Given the description of an element on the screen output the (x, y) to click on. 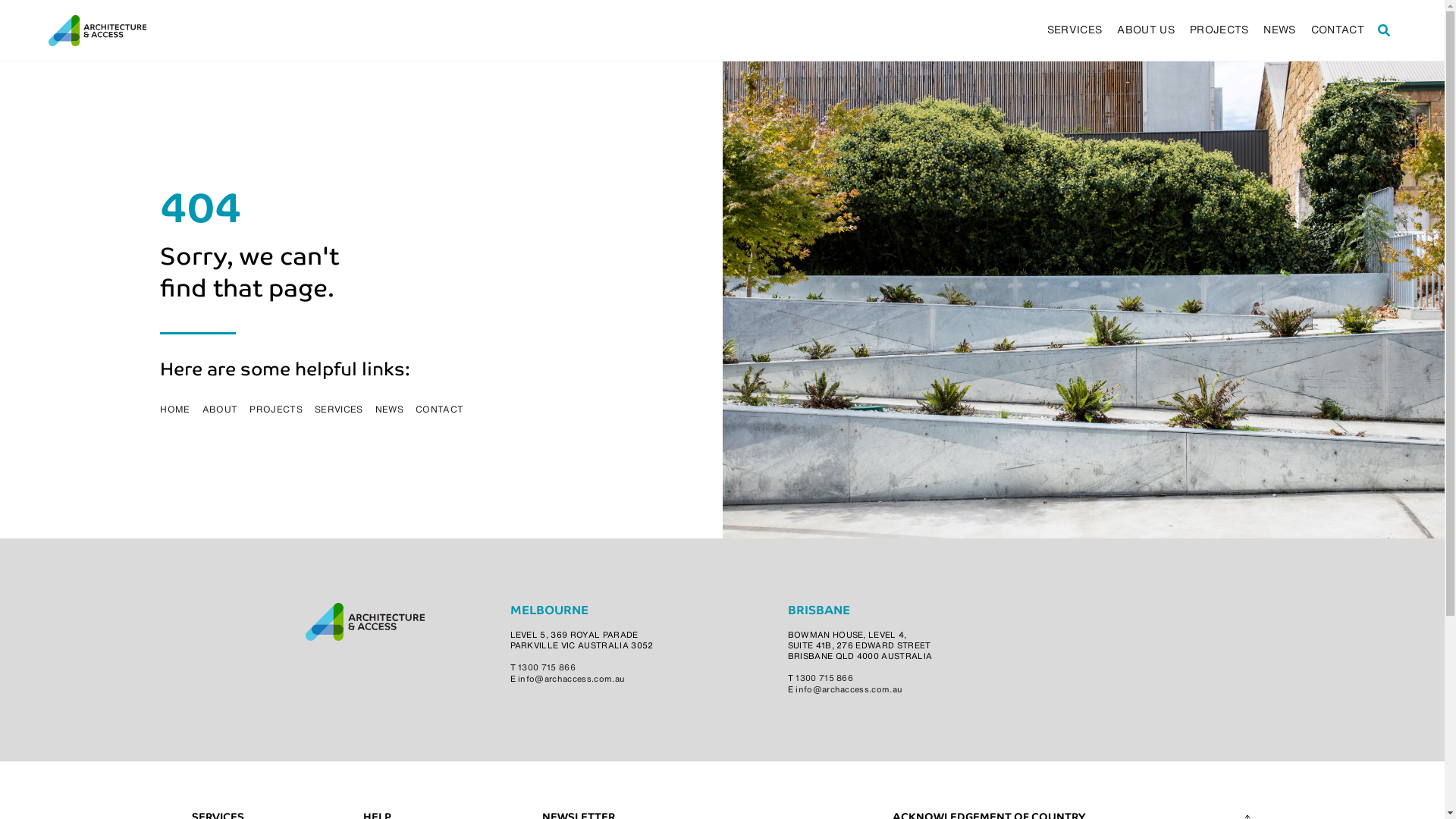
info@archaccess.com.au Element type: text (848, 690)
SERVICES Element type: text (338, 409)
NEWS Element type: text (389, 409)
PROJECTS Element type: text (1218, 30)
Architecture & Access Element type: text (97, 30)
PROJECTS Element type: text (275, 409)
ABOUT Element type: text (220, 409)
1300 715 866 Element type: text (546, 668)
1300 715 866 Element type: text (824, 678)
SERVICES Element type: text (1074, 30)
HOME Element type: text (174, 409)
CONTACT Element type: text (1337, 30)
CONTACT Element type: text (439, 409)
NEWS Element type: text (1279, 30)
info@archaccess.com.au Element type: text (570, 679)
ABOUT US Element type: text (1145, 30)
Search Element type: text (1383, 30)
